Given the description of an element on the screen output the (x, y) to click on. 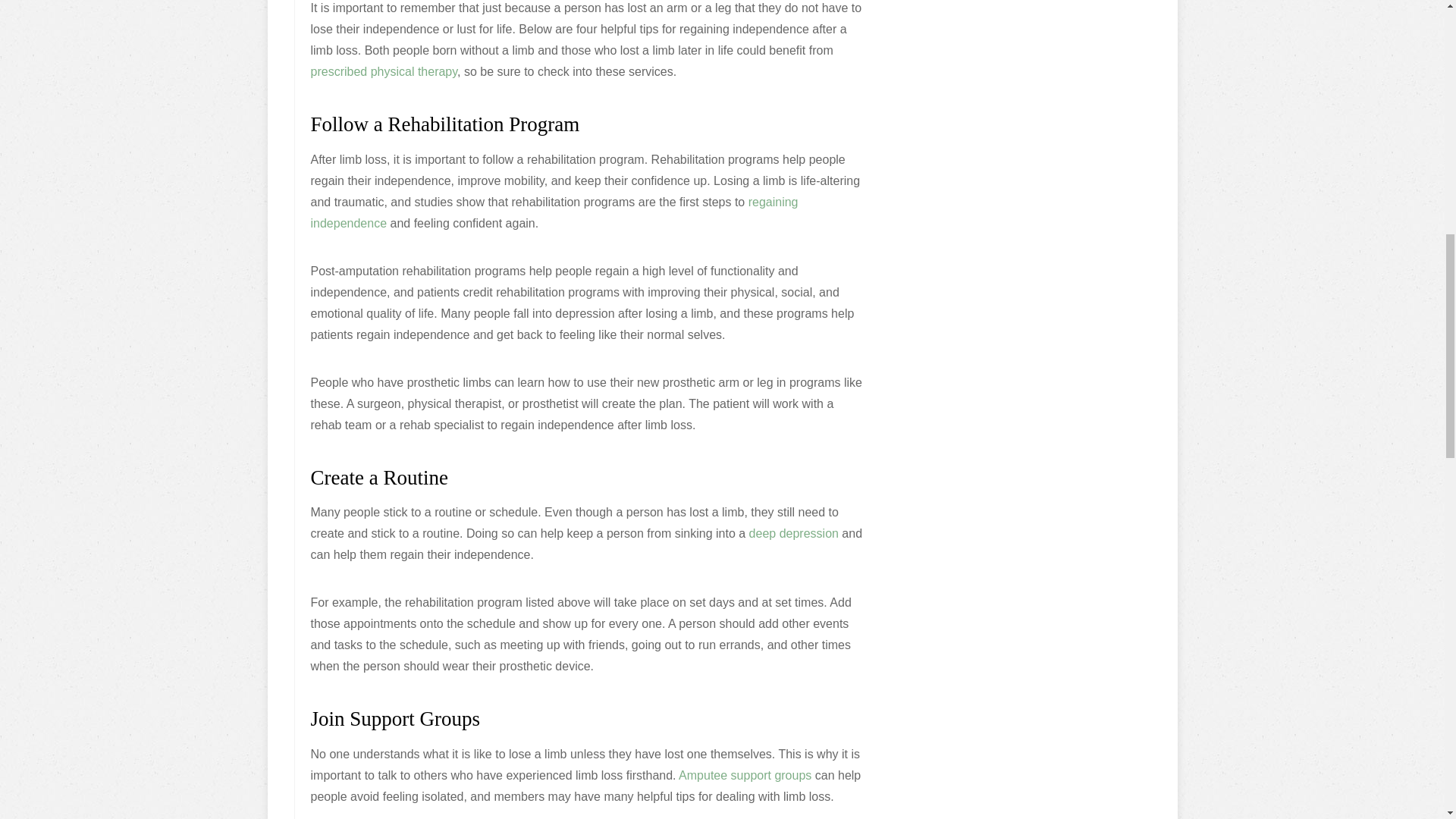
Amputee support groups (744, 775)
deep depression (793, 533)
prescribed physical therapy (384, 71)
regaining independence (554, 212)
